Given the description of an element on the screen output the (x, y) to click on. 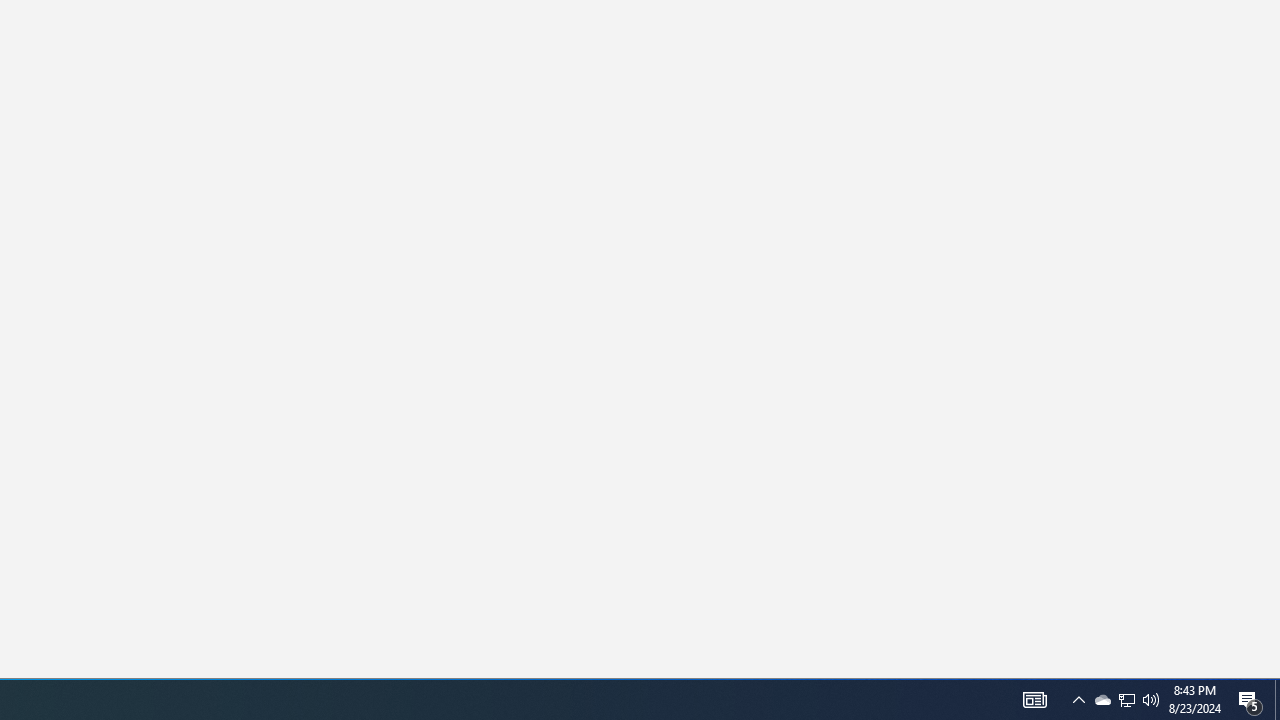
Show desktop (1102, 699)
User Promoted Notification Area (1277, 699)
Notification Chevron (1126, 699)
AutomationID: 4105 (1078, 699)
Action Center, 5 new notifications (1034, 699)
Q2790: 100% (1126, 699)
